Given the description of an element on the screen output the (x, y) to click on. 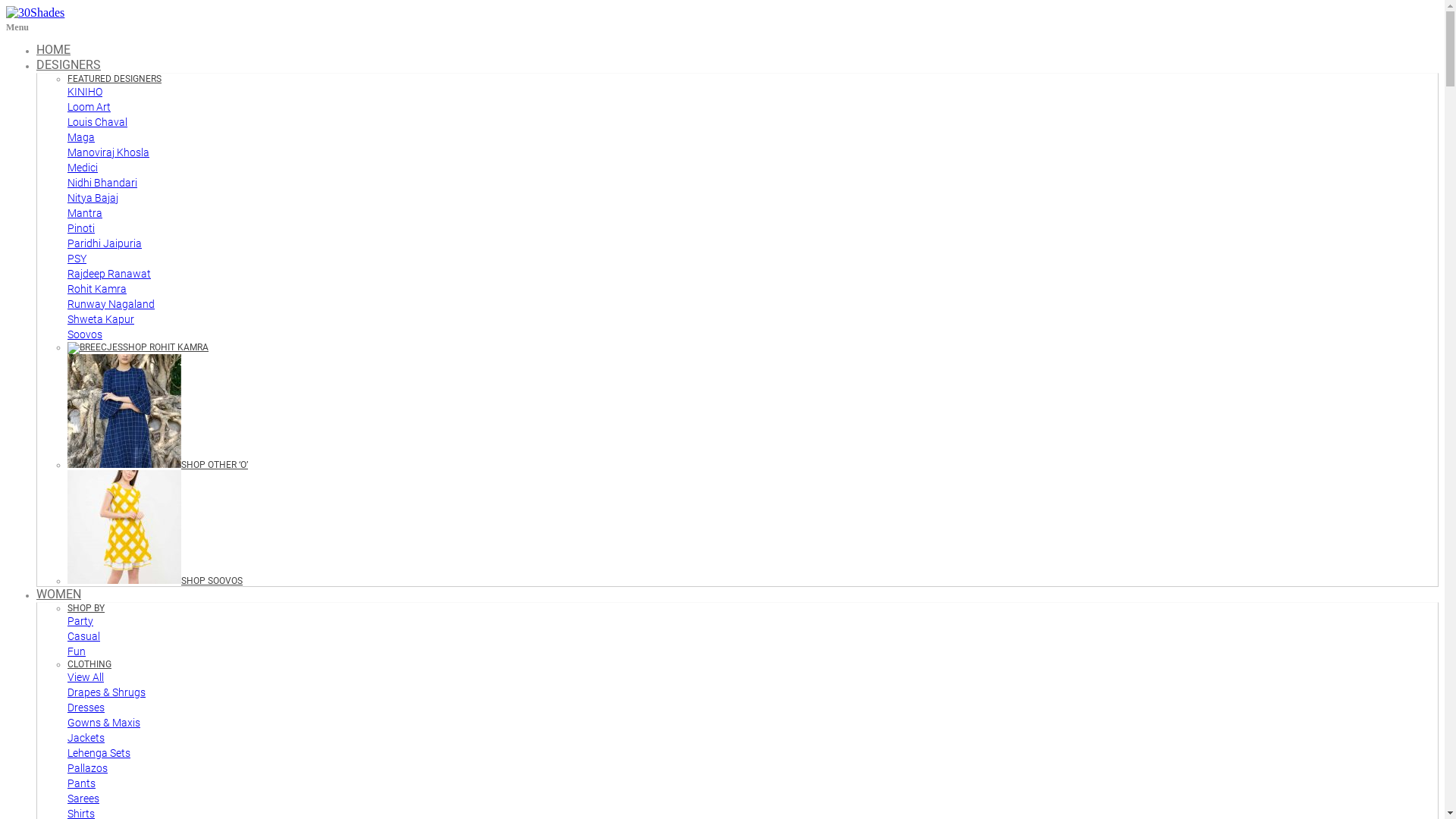
Jackets Element type: text (85, 737)
Party Element type: text (80, 621)
Pinoti Element type: text (80, 228)
Dresses Element type: text (85, 707)
Shweta Kapur Element type: text (100, 319)
Lehenga Sets Element type: text (98, 752)
Menu Element type: text (17, 26)
SHOP SOOVOS Element type: text (154, 580)
HOME Element type: text (53, 49)
FEATURED DESIGNERS Element type: text (114, 78)
View All Element type: text (85, 677)
PSY Element type: text (76, 258)
Fun Element type: text (76, 651)
Rajdeep Ranawat Element type: text (108, 273)
Nitya Bajaj Element type: text (92, 197)
SHOP BY Element type: text (85, 607)
Louis Chaval Element type: text (97, 122)
CLOTHING Element type: text (89, 663)
Maga Element type: text (80, 137)
Pallazos Element type: text (87, 768)
Medici Element type: text (82, 167)
Gowns & Maxis Element type: text (103, 722)
DESIGNERS Element type: text (68, 64)
Rohit Kamra Element type: text (96, 288)
Paridhi Jaipuria Element type: text (104, 243)
Pants Element type: text (81, 783)
Sarees Element type: text (83, 798)
Manoviraj Khosla Element type: text (108, 152)
Drapes & Shrugs Element type: text (106, 692)
Soovos Element type: text (84, 334)
Nidhi Bhandari Element type: text (102, 182)
KINIHO Element type: text (84, 91)
SHOP ROHIT KAMRA Element type: text (137, 347)
Runway Nagaland Element type: text (110, 304)
Mantra Element type: text (84, 213)
WOMEN Element type: text (58, 593)
Casual Element type: text (83, 636)
Loom Art Element type: text (88, 106)
